Given the description of an element on the screen output the (x, y) to click on. 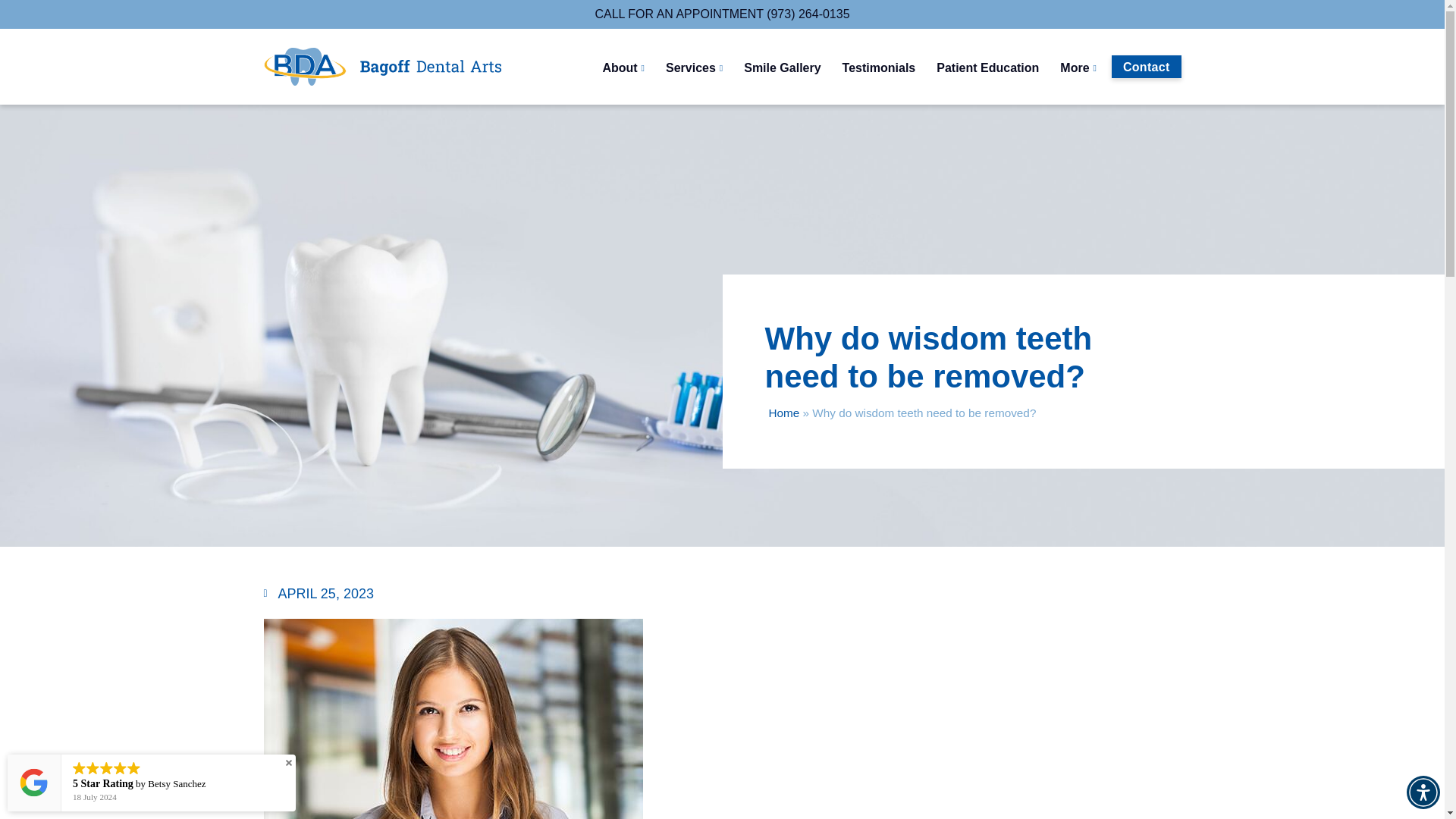
About (623, 68)
Services (693, 68)
Accessibility Menu (1422, 792)
